Given the description of an element on the screen output the (x, y) to click on. 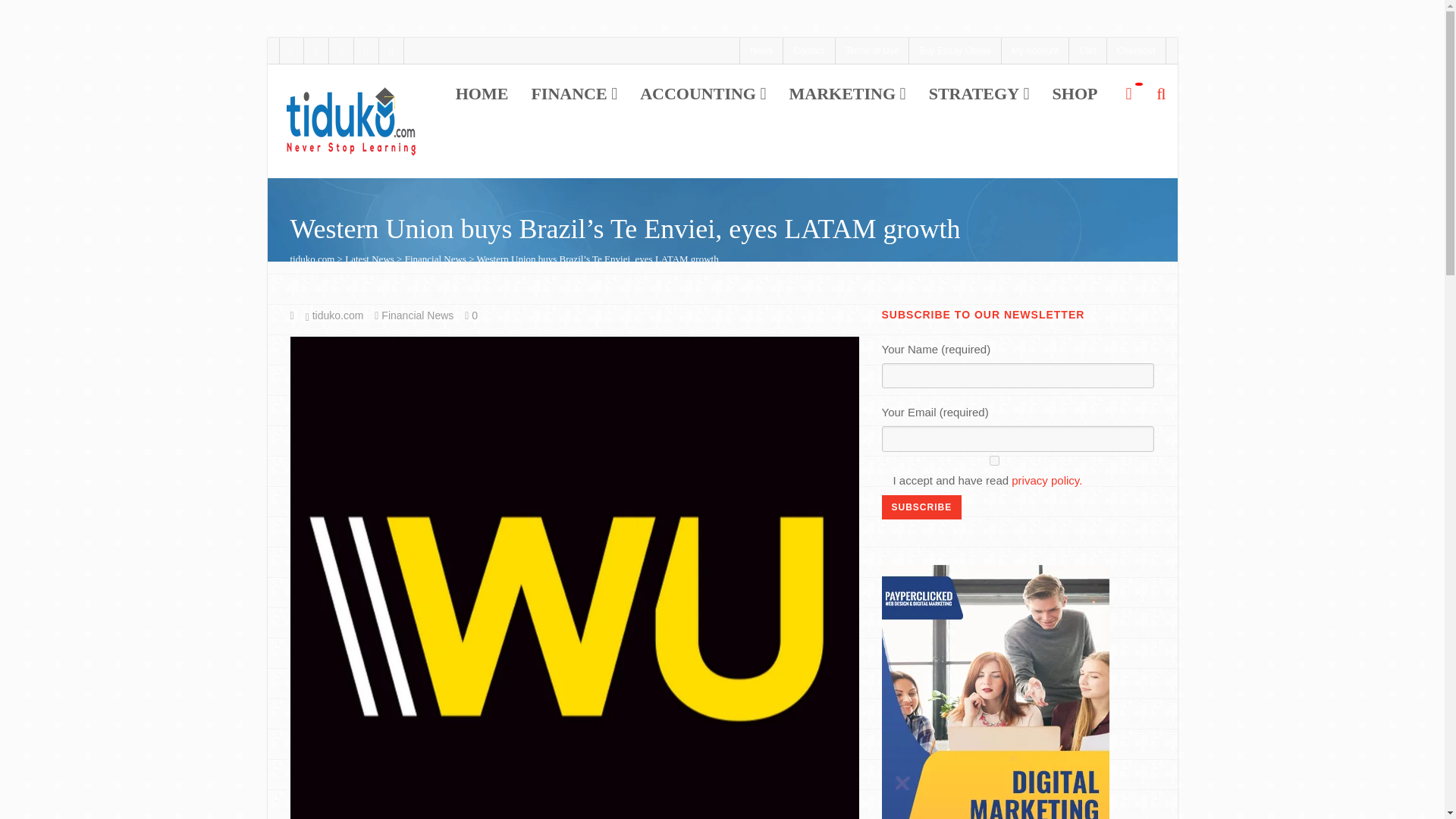
Buy Essay Online (954, 50)
Go to the Financial News Category archives. (434, 258)
My Account (1034, 50)
News (761, 50)
Contact (808, 50)
Subscribe (920, 507)
HOME (481, 93)
Cart (1087, 50)
Terms of Use (872, 50)
FINANCE (574, 93)
